Given the description of an element on the screen output the (x, y) to click on. 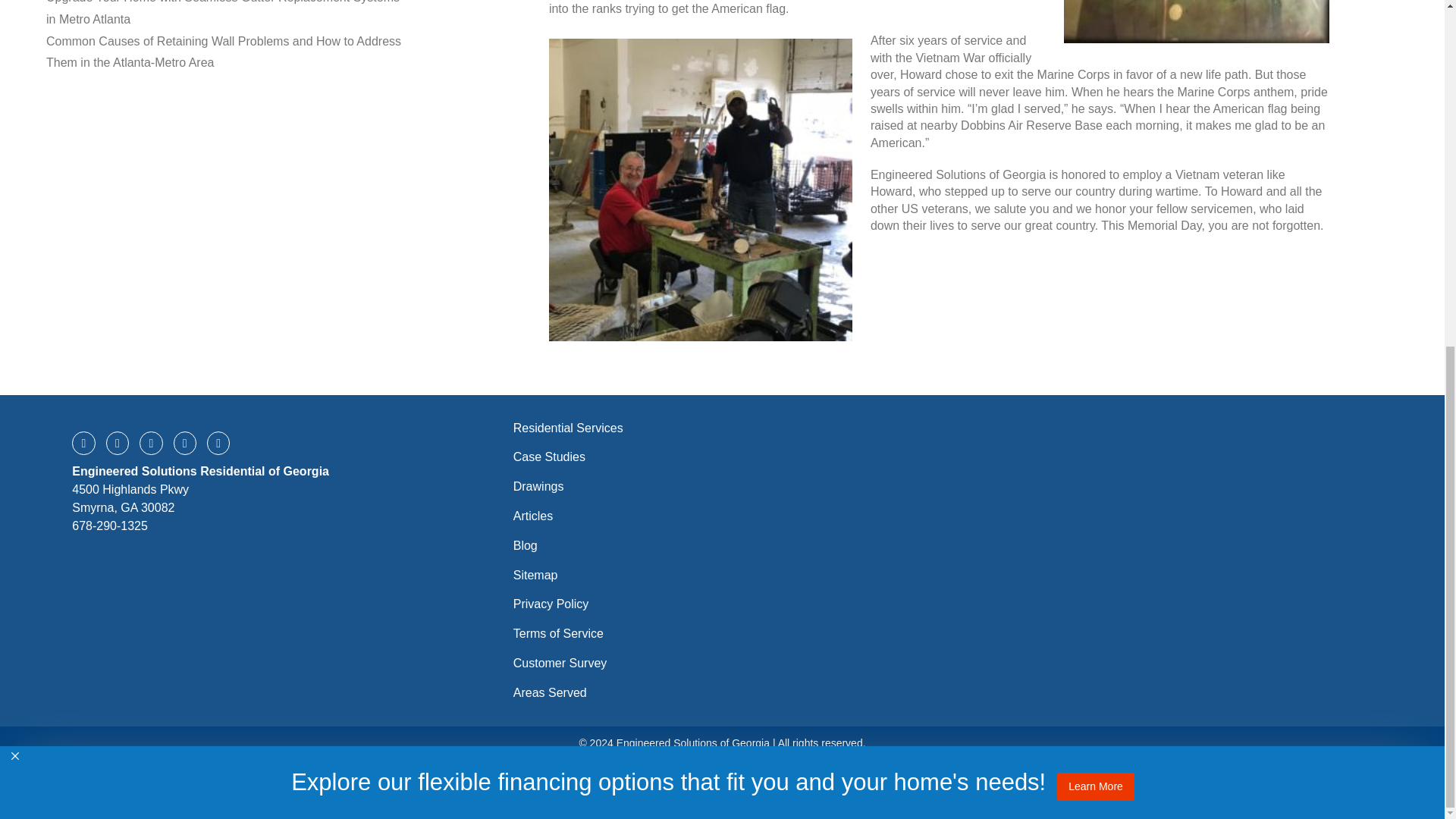
Twitter (117, 442)
LinkedIn (184, 442)
Facebook (82, 442)
Instagram (150, 442)
YouTube (218, 442)
